Given the description of an element on the screen output the (x, y) to click on. 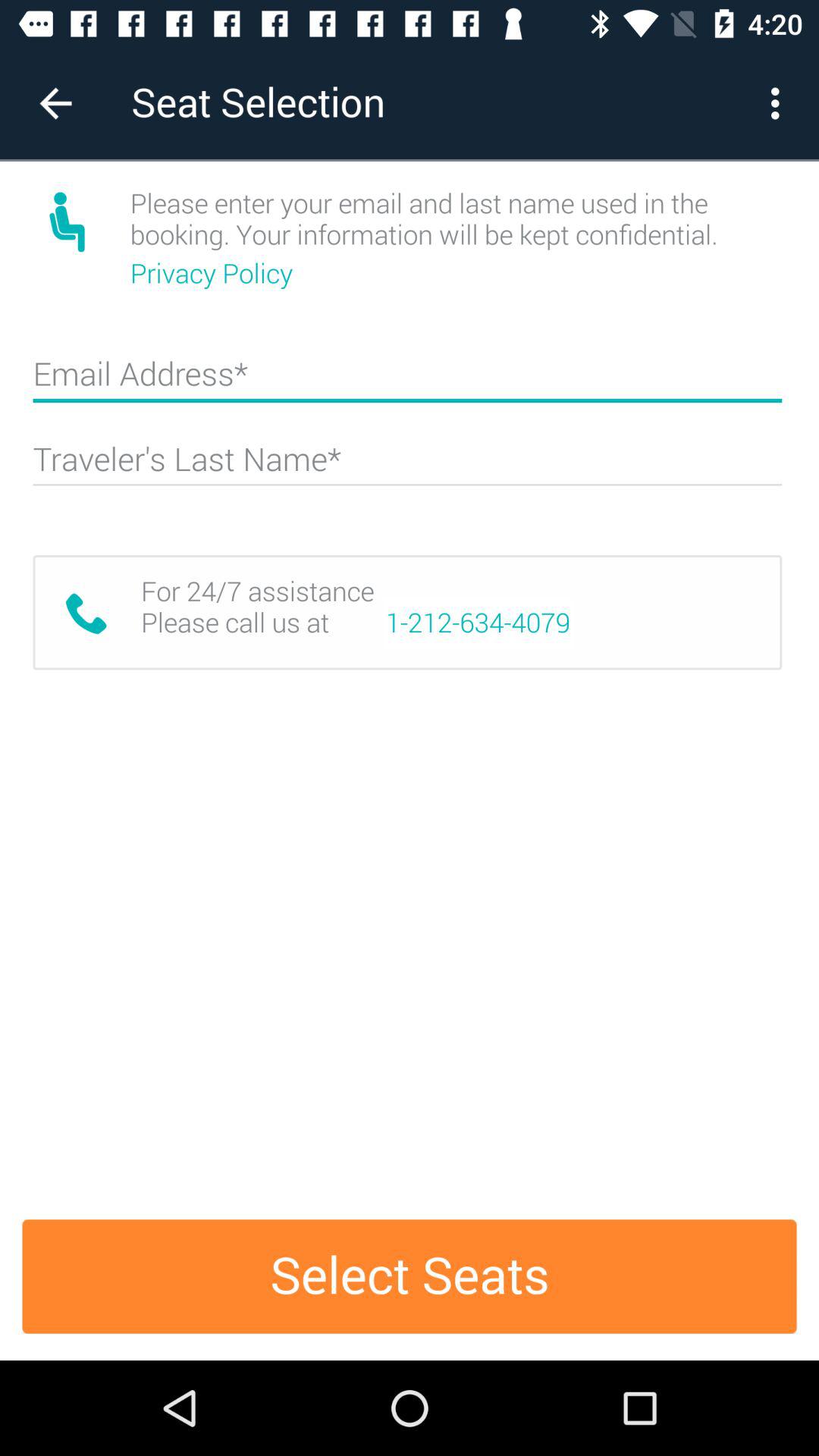
enter last name (407, 465)
